Given the description of an element on the screen output the (x, y) to click on. 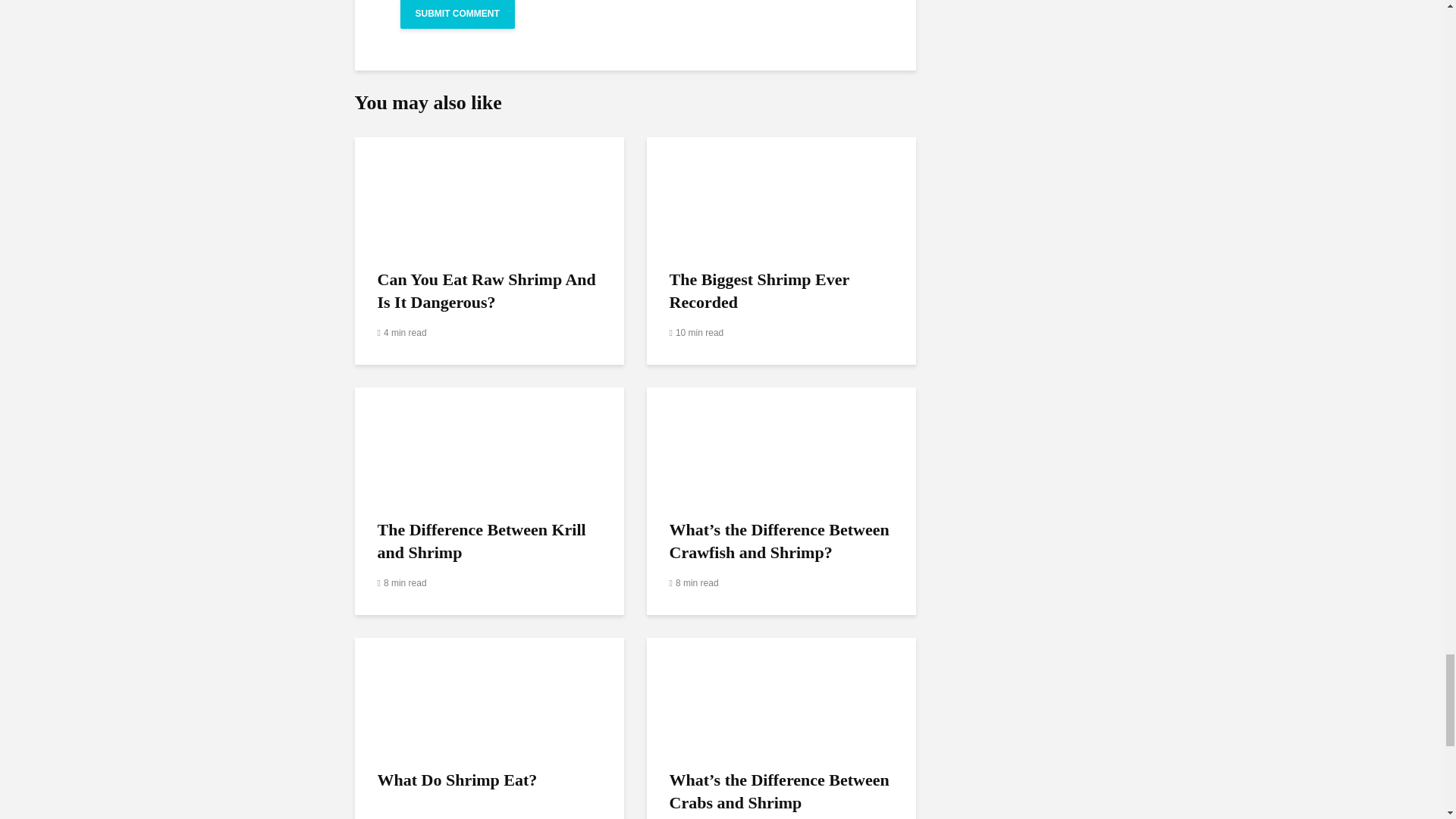
The Biggest Shrimp Ever Recorded (780, 192)
Can You Eat Raw Shrimp And Is It Dangerous? (489, 192)
What Do Shrimp Eat? (489, 693)
Submit Comment (457, 14)
The Difference Between Krill and Shrimp (489, 442)
